Given the description of an element on the screen output the (x, y) to click on. 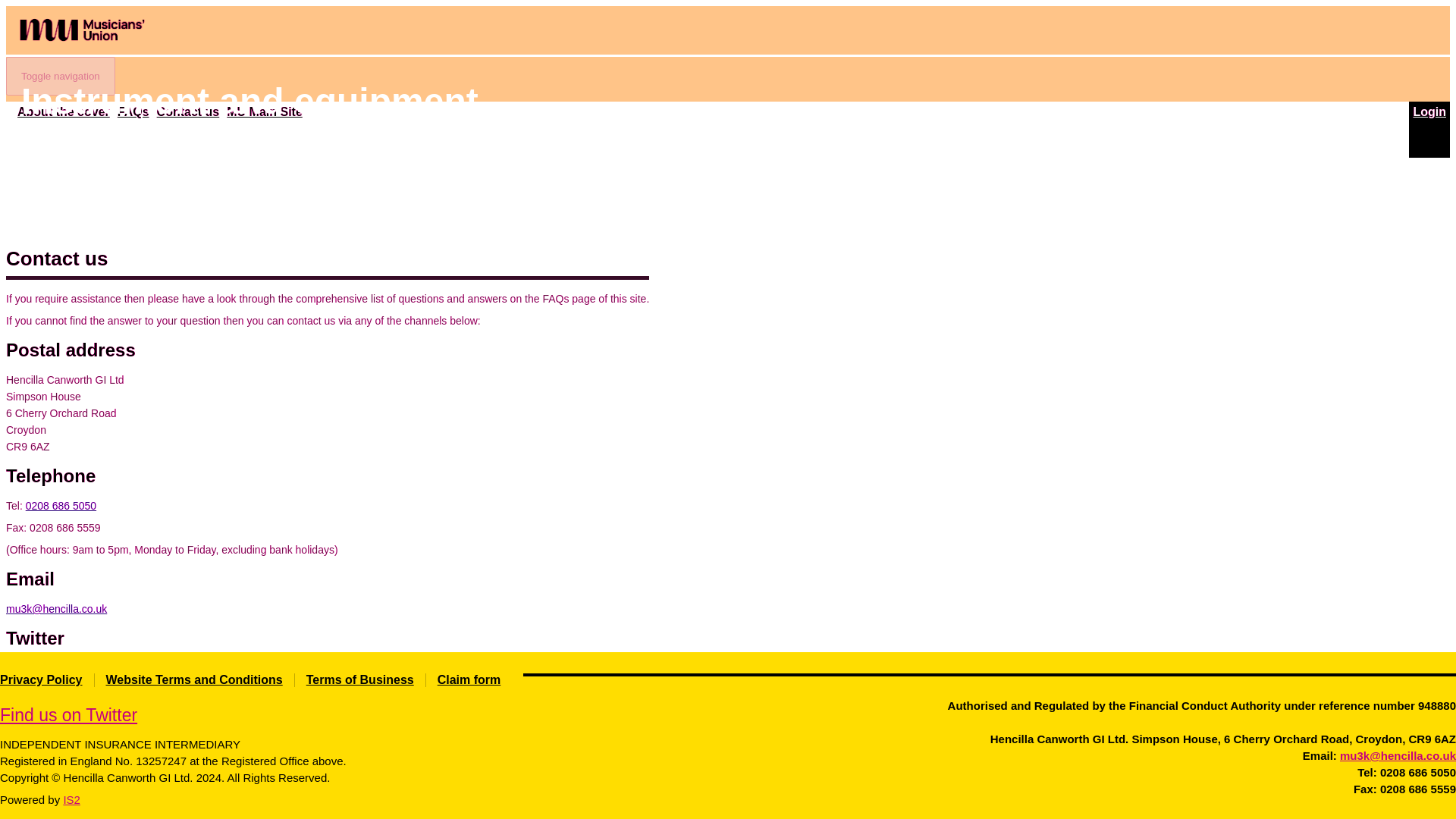
Privacy Policy (41, 679)
Terms of Business (359, 679)
Toggle navigation (60, 75)
Claim form (469, 679)
hencilla (115, 684)
0208 686 5050 (61, 505)
About the cover (63, 111)
FAQs (133, 111)
MU Main Site (264, 111)
wearethemu (118, 667)
